Given the description of an element on the screen output the (x, y) to click on. 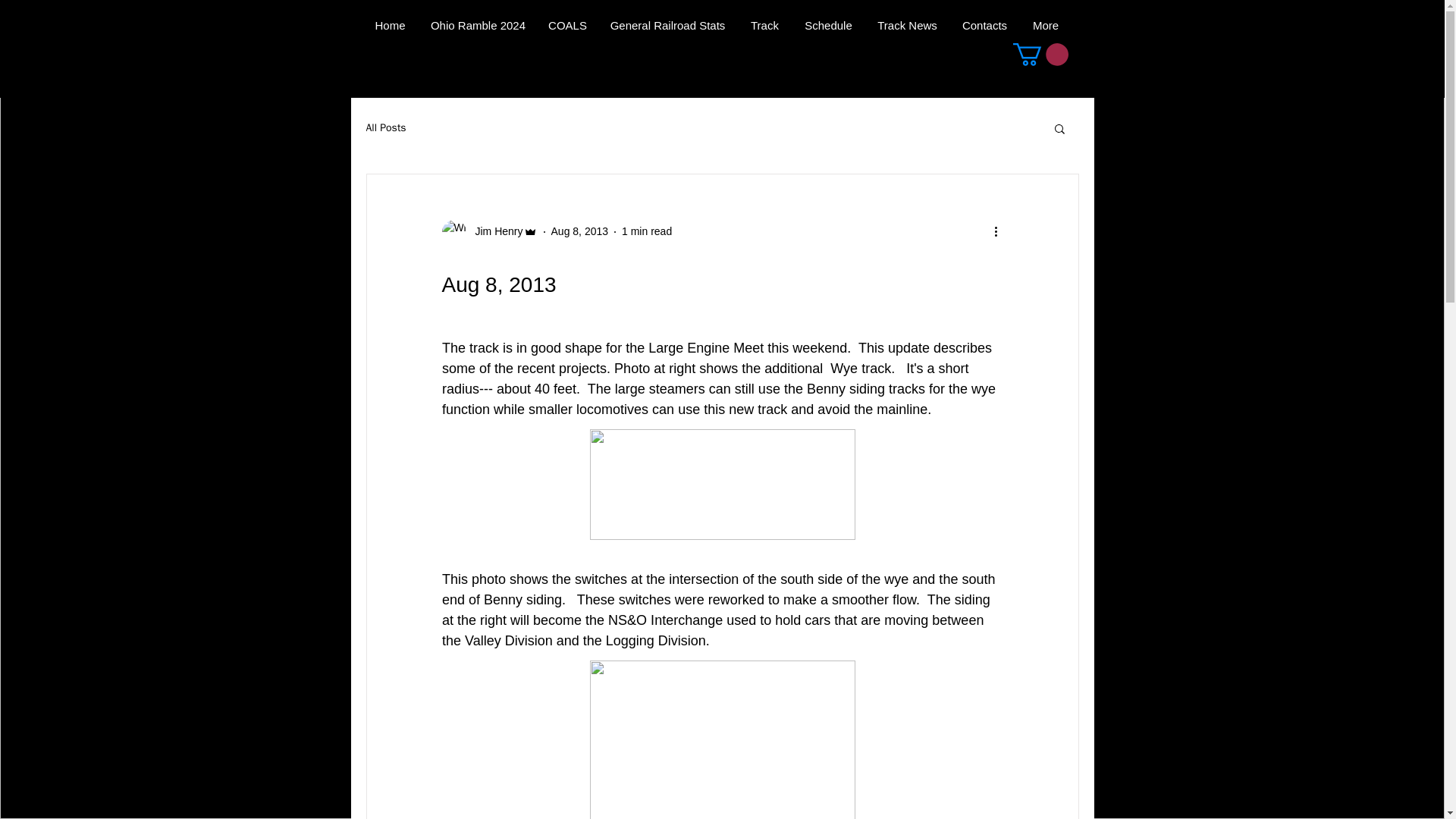
Ohio Ramble 2024 (478, 25)
COALS (566, 25)
Aug 8, 2013 (579, 231)
Contacts (984, 25)
Home (390, 25)
Track News (906, 25)
Jim Henry (489, 232)
Jim Henry (493, 231)
Schedule (828, 25)
All Posts (385, 128)
General Railroad Stats (666, 25)
Track (764, 25)
1 min read (646, 231)
